Given the description of an element on the screen output the (x, y) to click on. 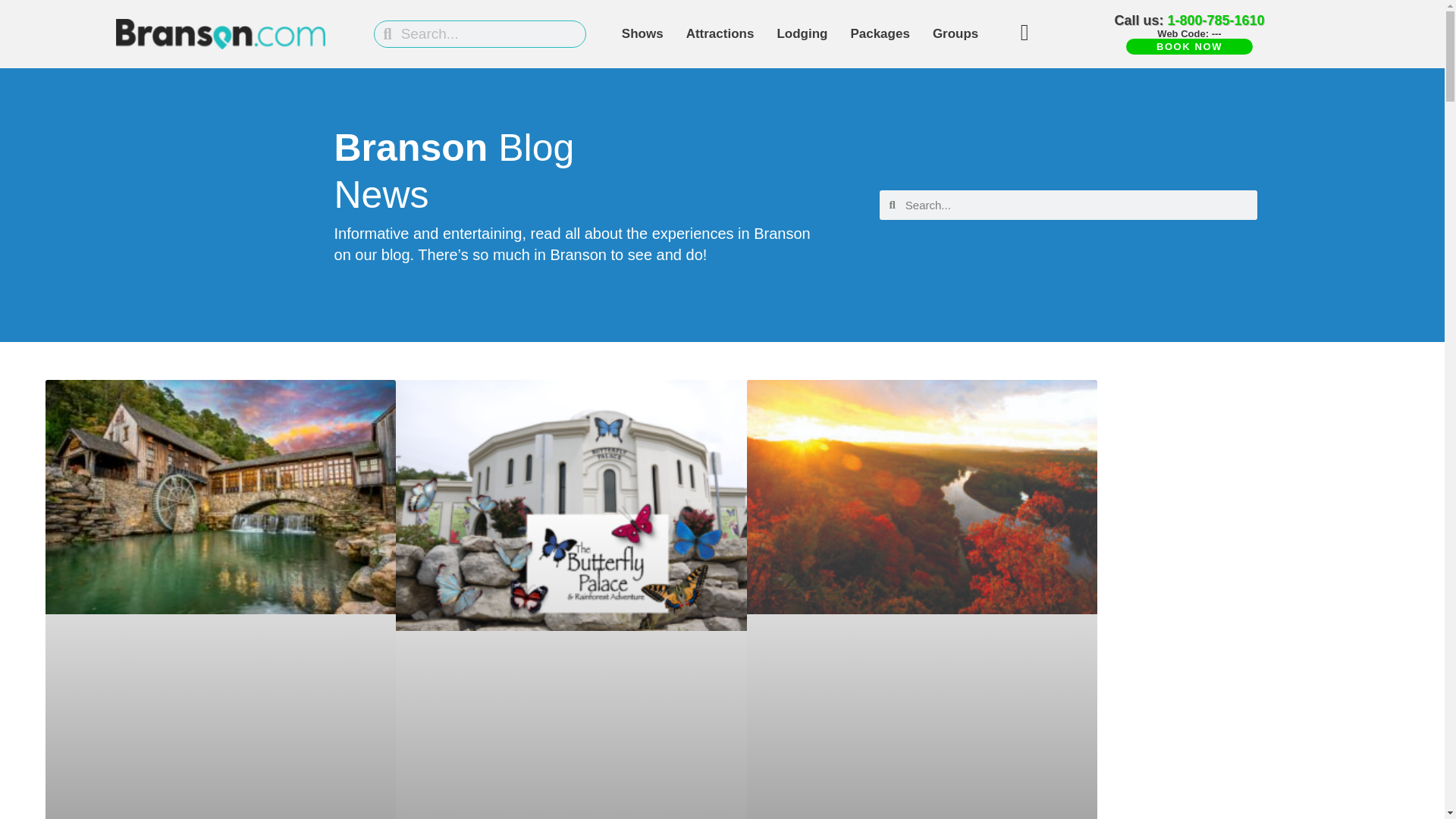
Shows (642, 33)
1-800-785-1610 (1215, 20)
Attractions (720, 33)
Lodging (801, 33)
Groups (955, 33)
BOOK NOW (1188, 46)
Packages (879, 33)
